Given the description of an element on the screen output the (x, y) to click on. 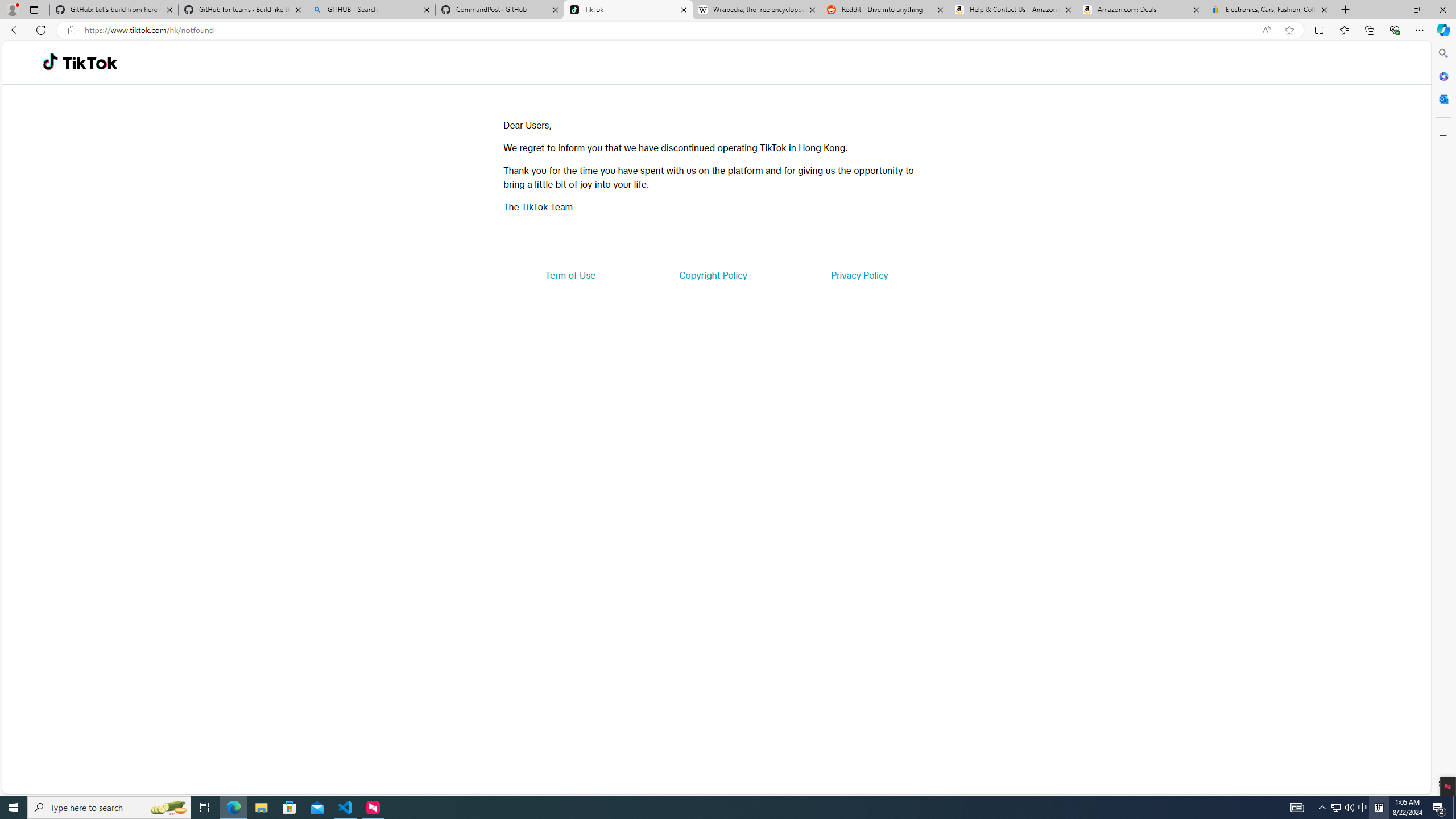
Amazon.com: Deals (1140, 9)
Reddit - Dive into anything (884, 9)
TikTok (628, 9)
TikTok (89, 62)
Help & Contact Us - Amazon Customer Service (1012, 9)
